Given the description of an element on the screen output the (x, y) to click on. 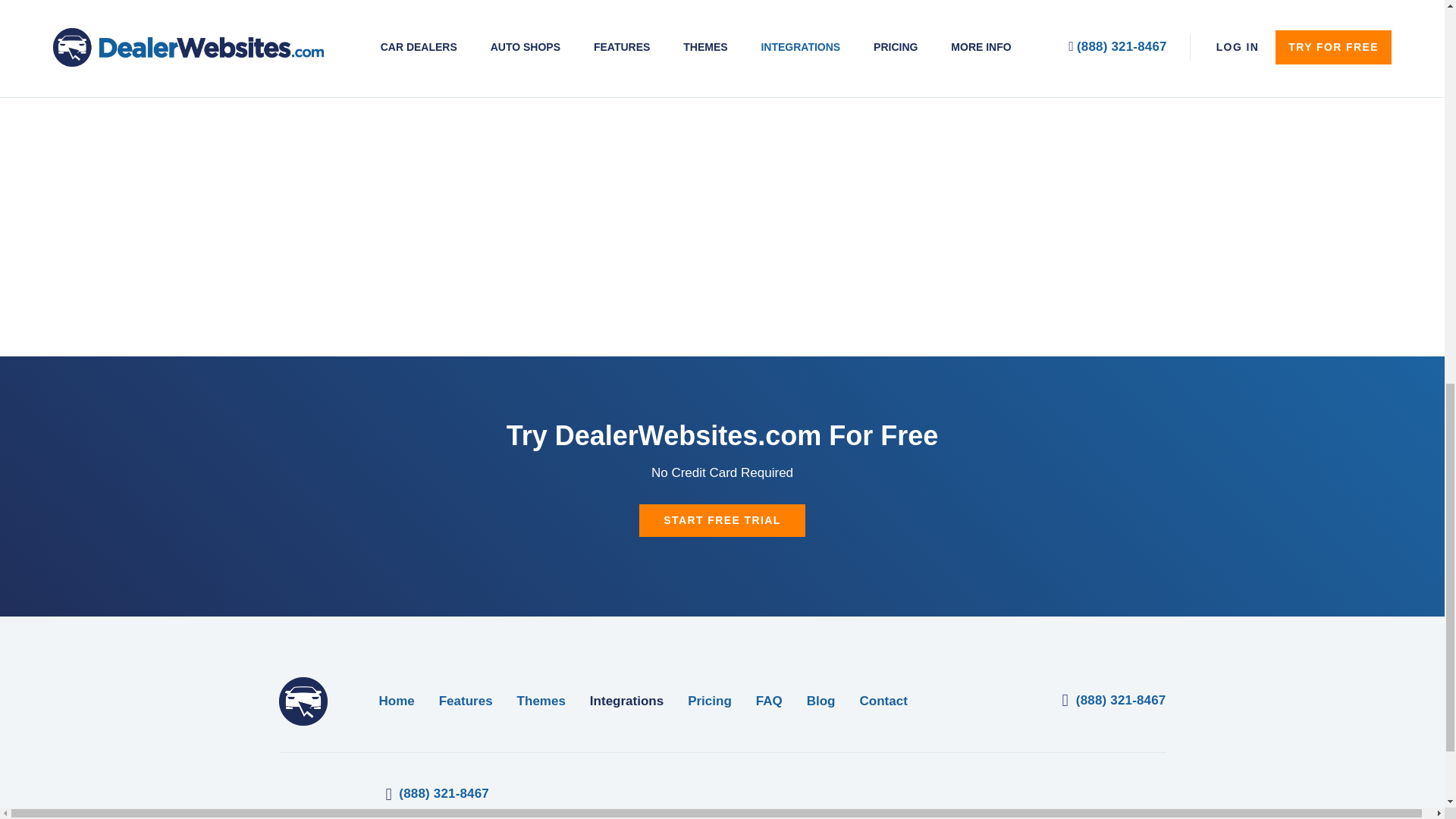
Contact (883, 700)
Features (466, 700)
Home (396, 700)
Themes (541, 700)
Integrations (626, 700)
Blog (820, 700)
LEARN HOW TO ENABLE THIS INTEGRATION (821, 12)
START FREE TRIAL (722, 520)
FAQ (769, 700)
Pricing (709, 700)
